Given the description of an element on the screen output the (x, y) to click on. 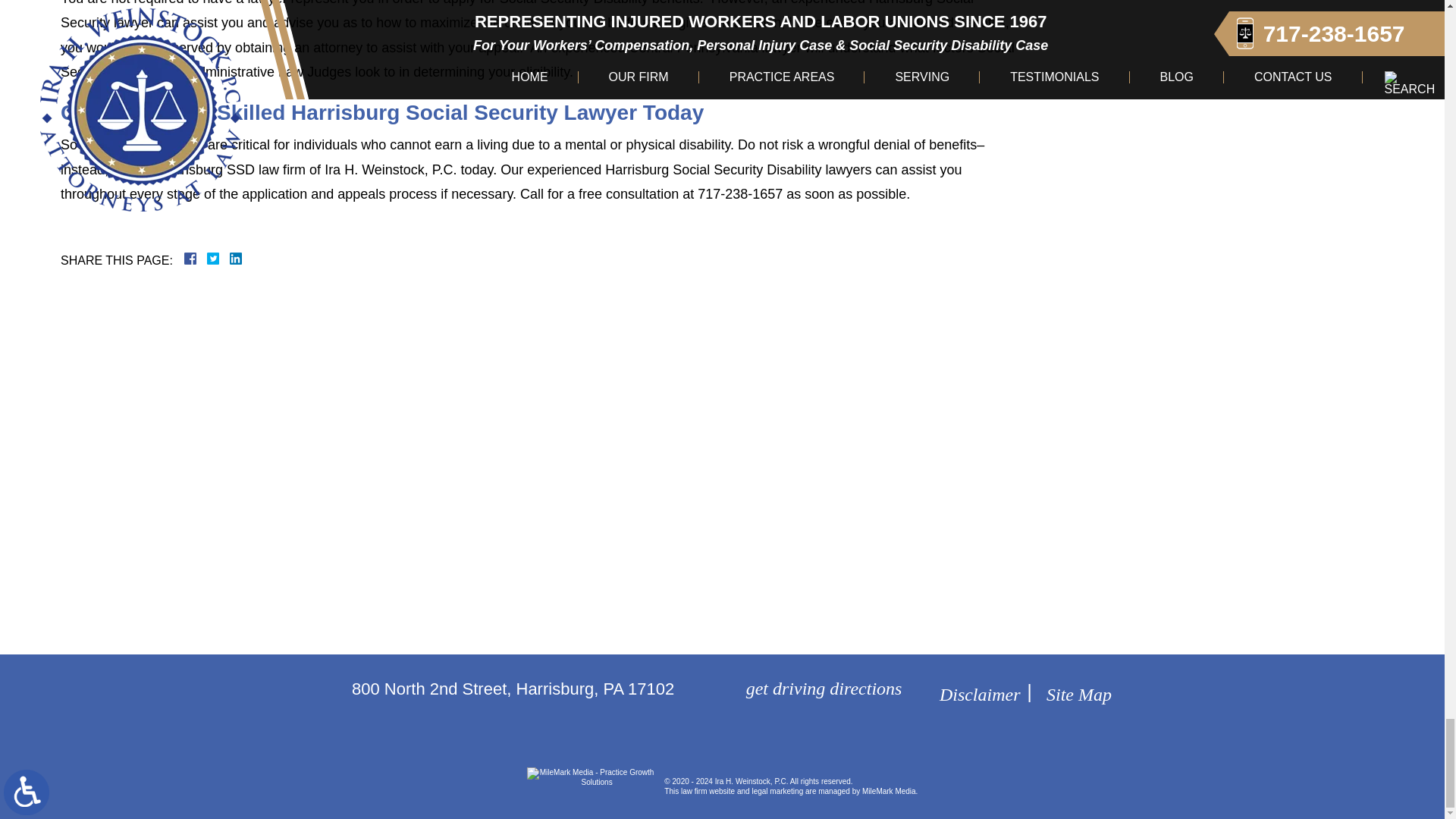
Facebook (208, 258)
LinkedIn (229, 258)
Twitter (219, 258)
